Given the description of an element on the screen output the (x, y) to click on. 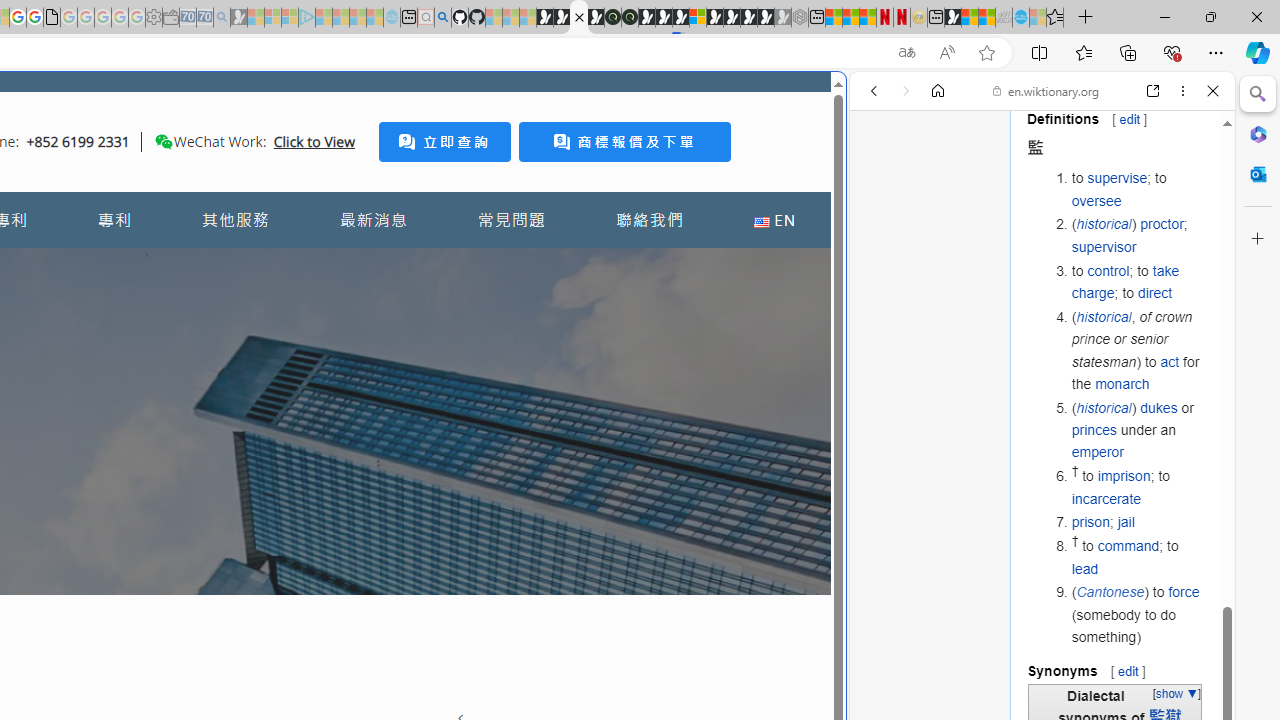
Cantonese (1110, 592)
monarch (1121, 383)
Class: desktop (163, 141)
Search or enter web address (343, 191)
